Given the description of an element on the screen output the (x, y) to click on. 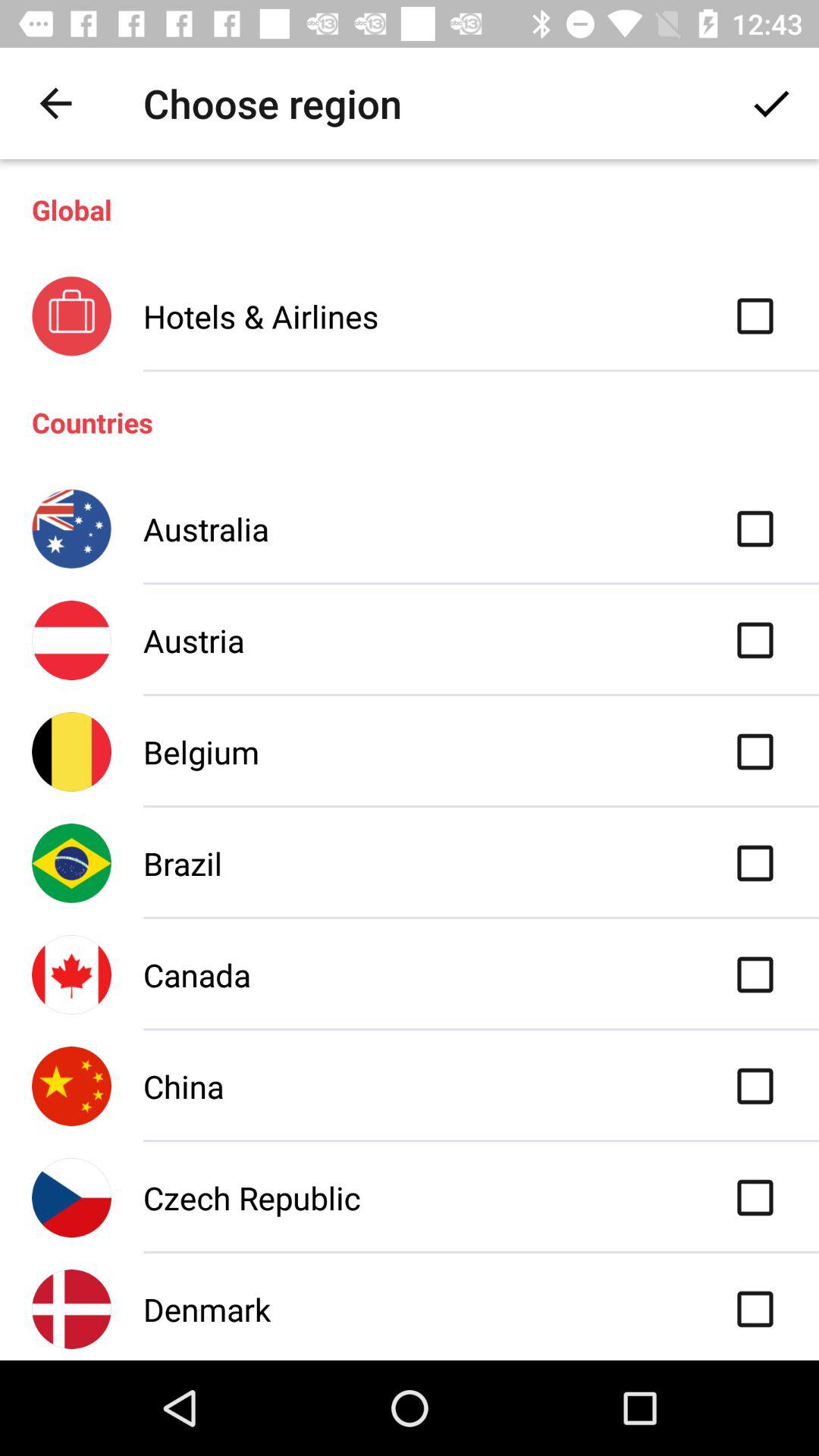
tap icon to the left of the choose region (55, 103)
